Given the description of an element on the screen output the (x, y) to click on. 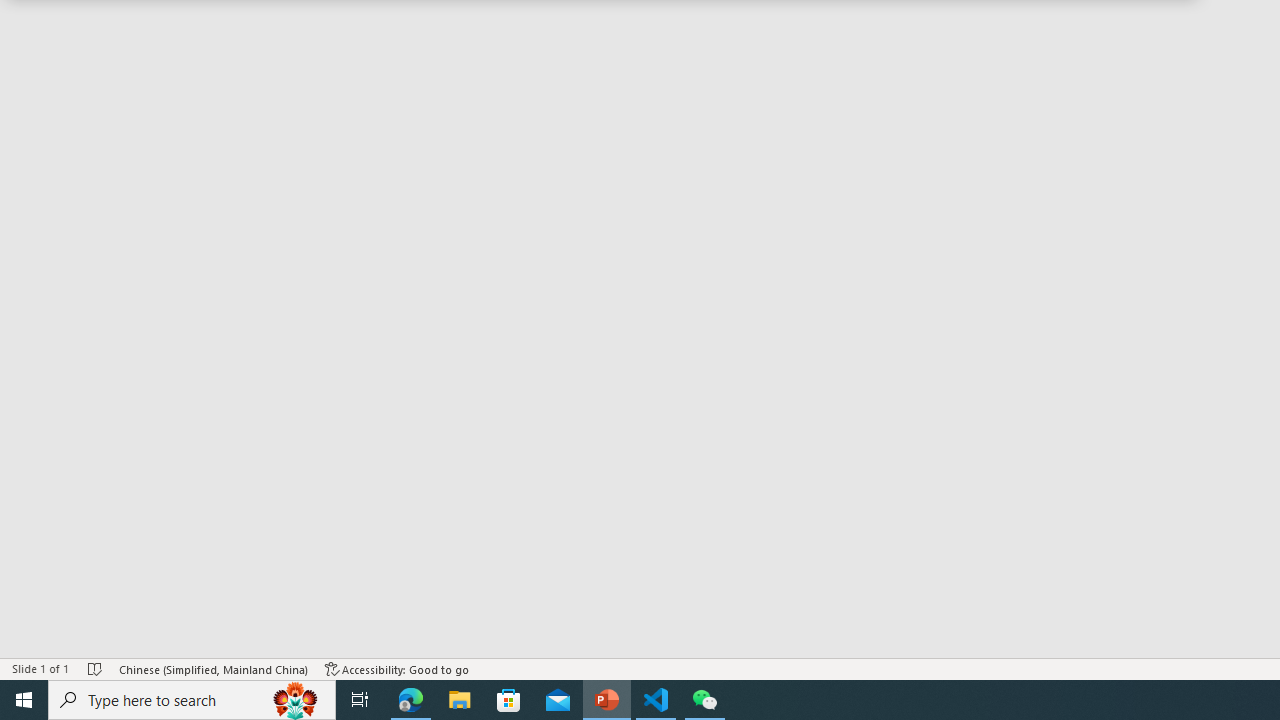
PowerPoint - 1 running window (607, 699)
Spell Check No Errors (95, 668)
Task View (359, 699)
Visual Studio Code - 1 running window (656, 699)
Type here to search (191, 699)
Start (24, 699)
Accessibility Checker Accessibility: Good to go (397, 668)
WeChat - 1 running window (704, 699)
Microsoft Store (509, 699)
File Explorer (460, 699)
Search highlights icon opens search home window (295, 699)
Microsoft Edge - 1 running window (411, 699)
